Given the description of an element on the screen output the (x, y) to click on. 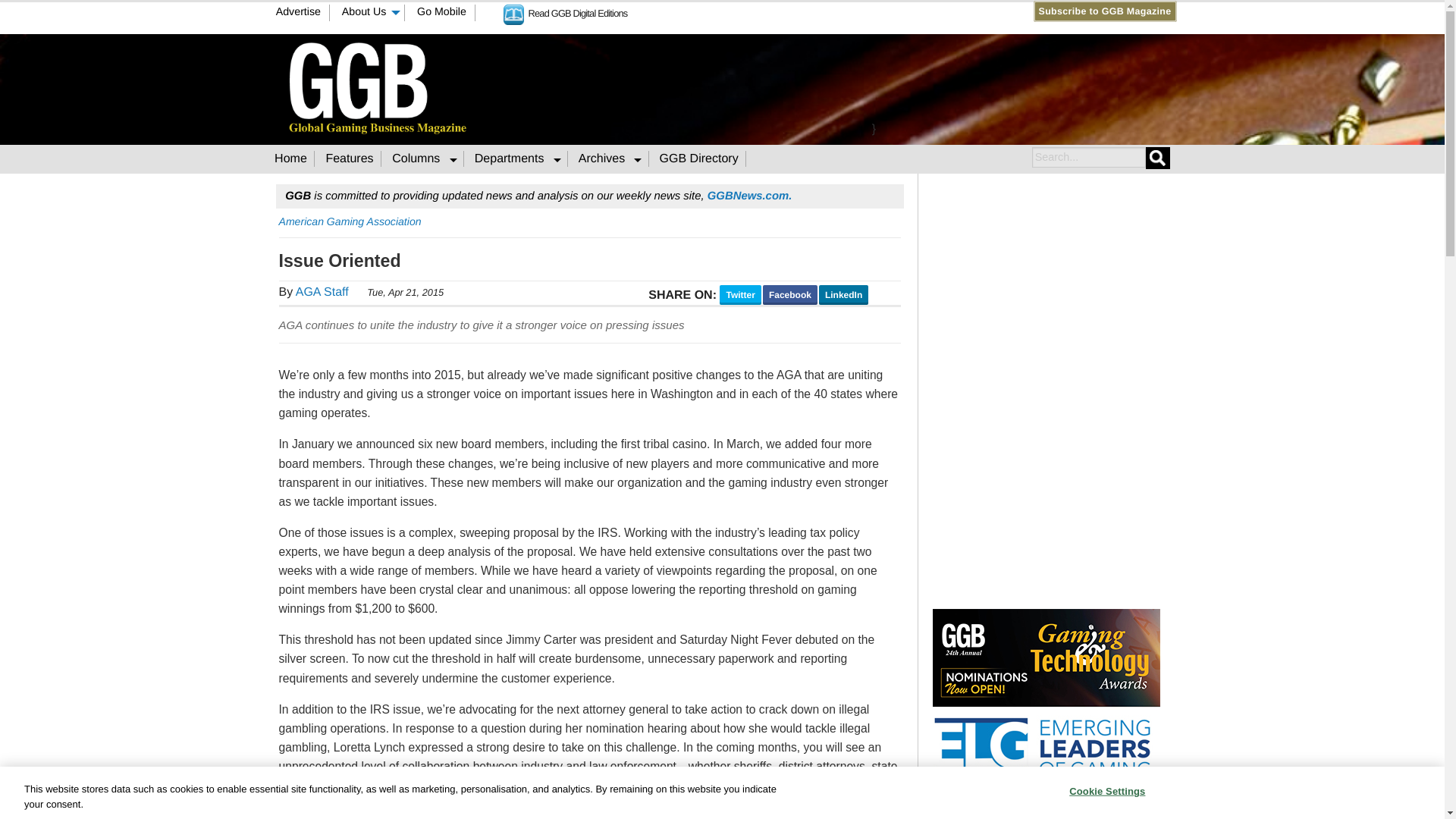
Go Mobile (442, 12)
View all articles by AGA Staff (322, 291)
Search for: (1087, 157)
3rd party ad content (873, 86)
LinkedIn (781, 11)
GGB News (749, 196)
GGB Directory (698, 158)
Read GGB Digital Editions (565, 12)
Advertise (298, 12)
Twitter (767, 11)
About Us (369, 12)
Facebook (752, 11)
